Given the description of an element on the screen output the (x, y) to click on. 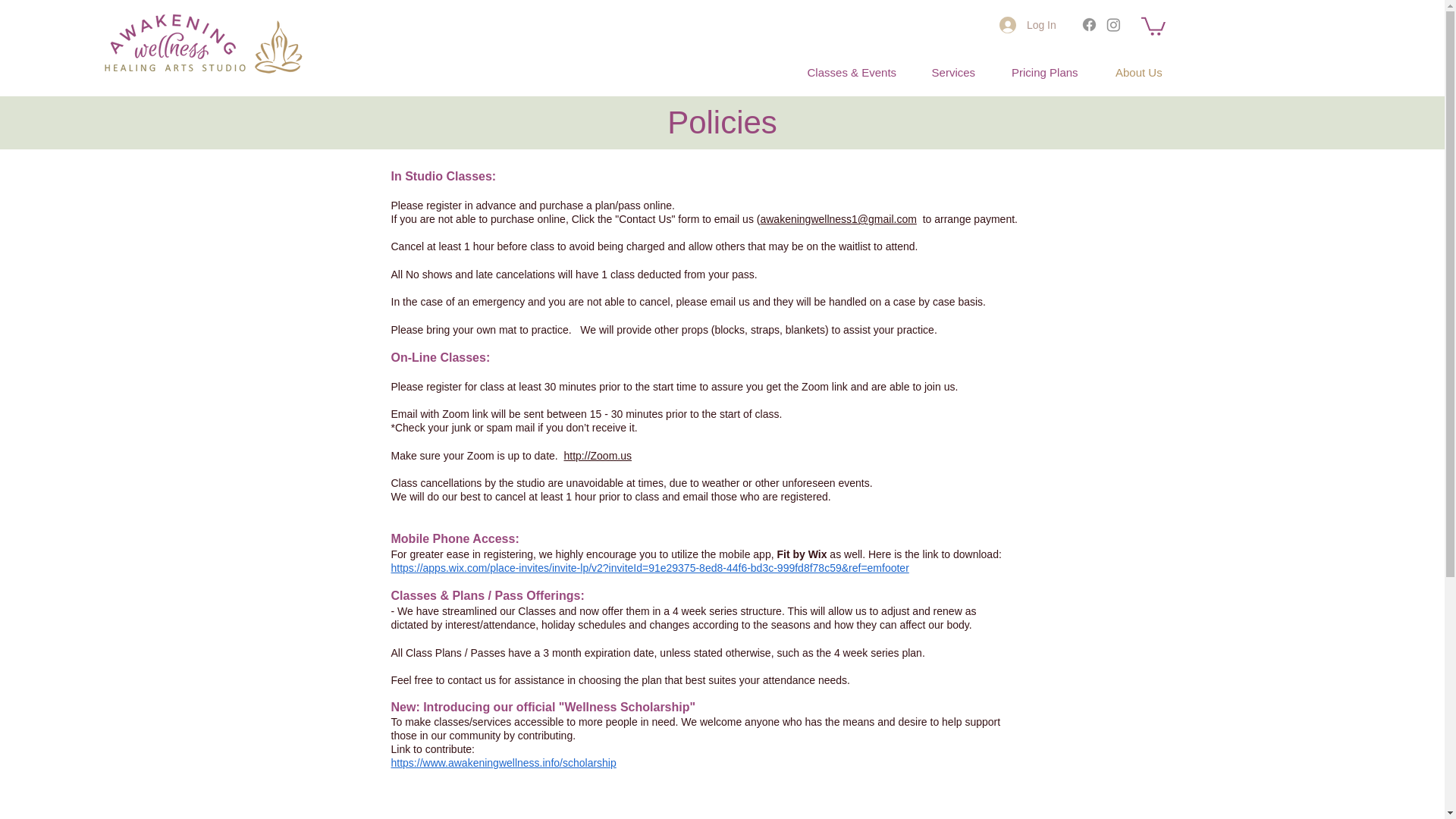
Pricing Plans (1044, 72)
About Us (1138, 72)
Log In (1027, 24)
Services (953, 72)
